Given the description of an element on the screen output the (x, y) to click on. 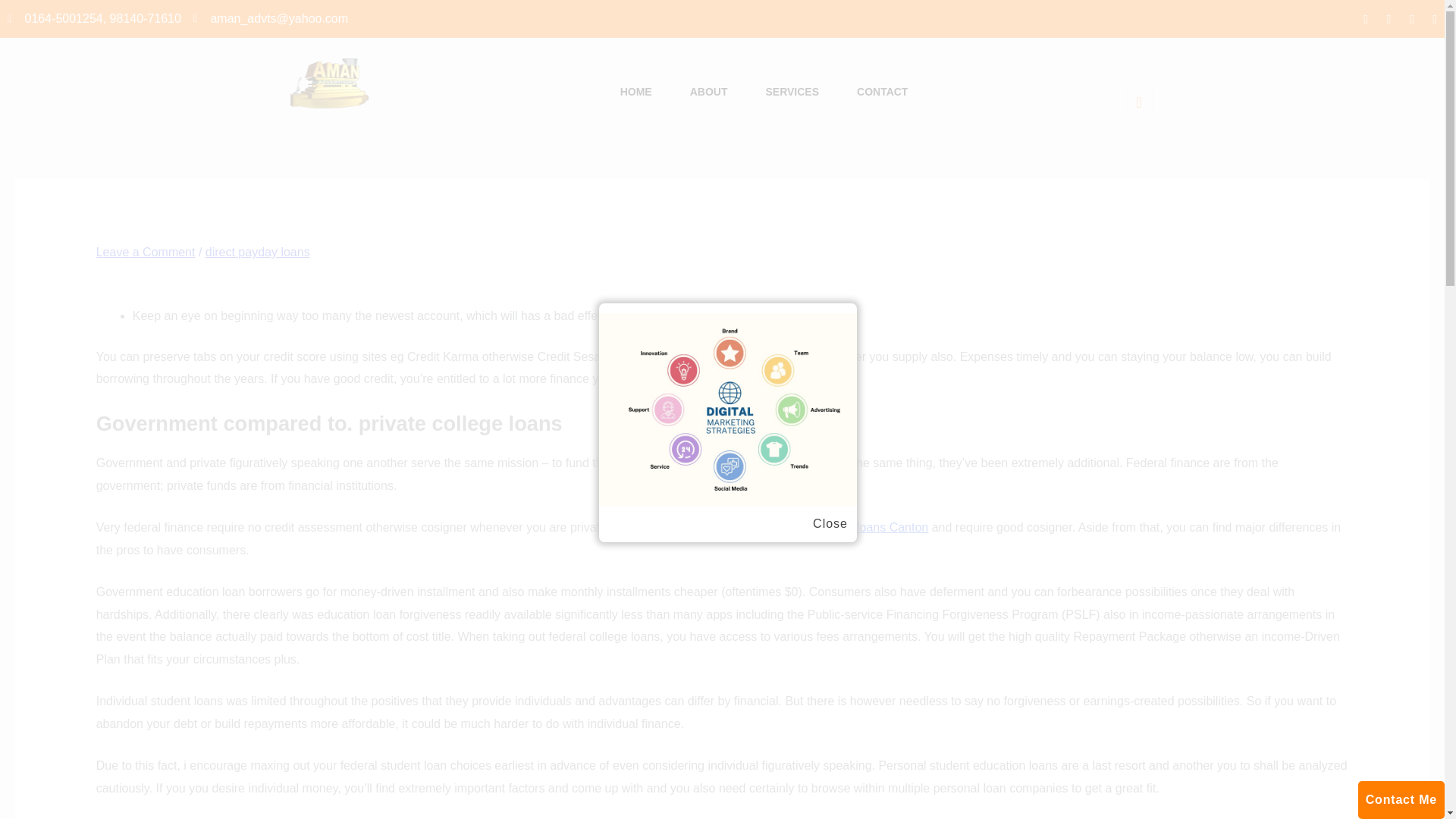
payday loans Canton (870, 526)
ABOUT (708, 92)
Close (829, 523)
Leave a Comment (145, 251)
SERVICES (791, 92)
HOME (636, 92)
0164-5001254, 98140-71610 (93, 18)
direct payday loans (257, 251)
CONTACT (882, 92)
